Given the description of an element on the screen output the (x, y) to click on. 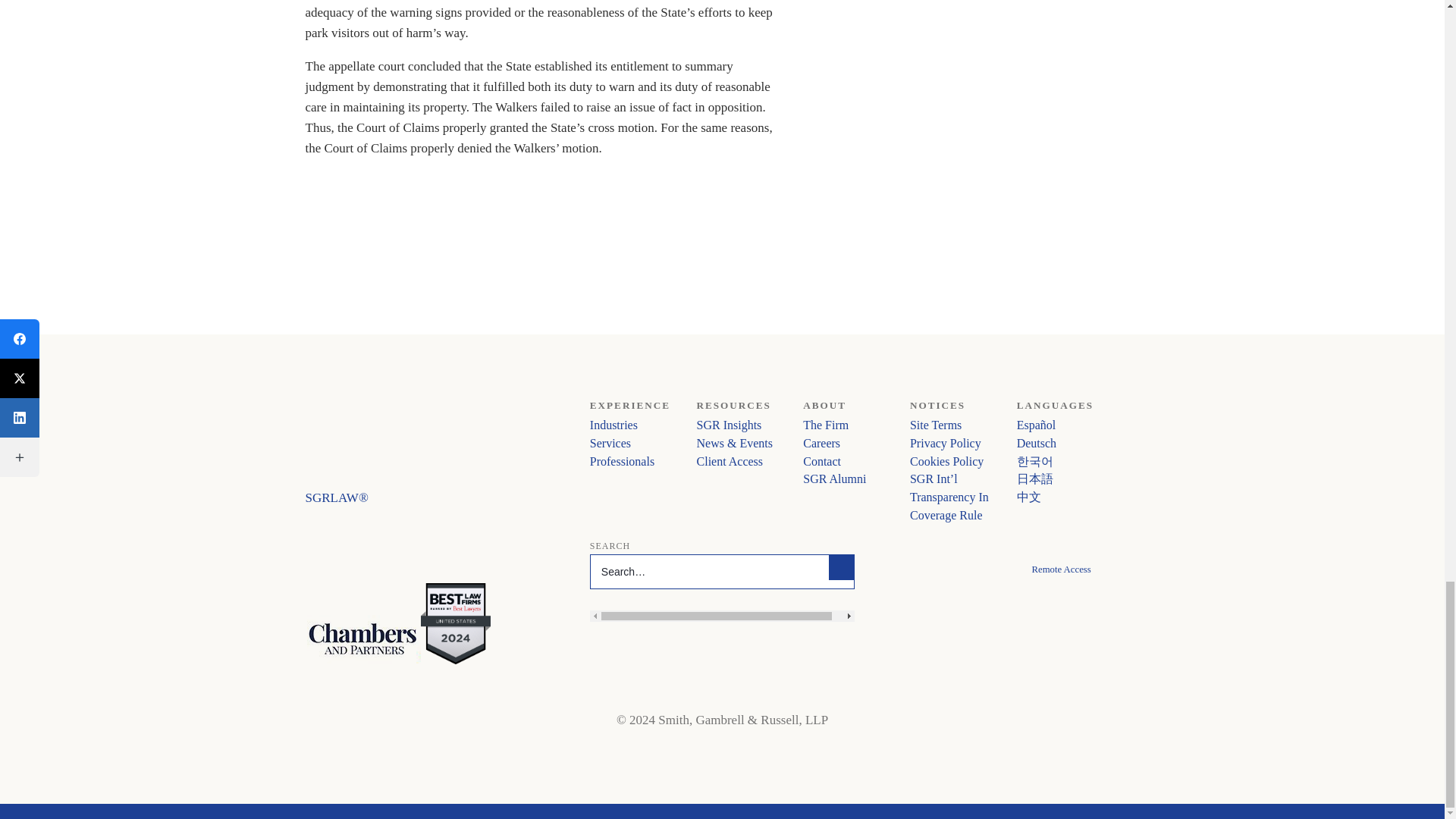
Professionals (621, 461)
Client Access (729, 461)
The Firm (825, 424)
SGR Alumni (834, 478)
SGR Insights (729, 424)
Industries (613, 424)
Privacy Policy (945, 442)
Services (609, 442)
Site Terms (935, 424)
Contact (822, 461)
